Given the description of an element on the screen output the (x, y) to click on. 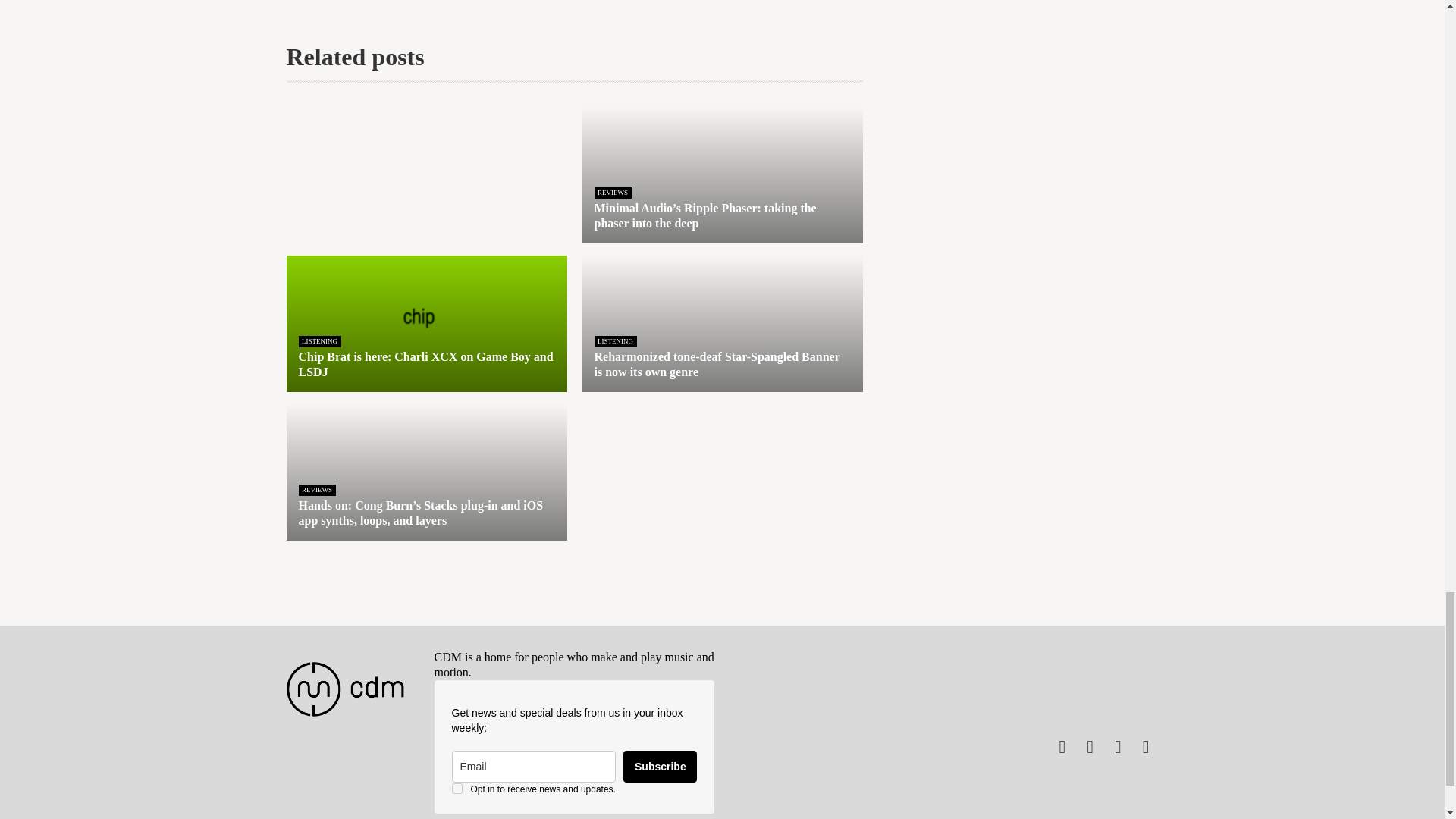
on (457, 787)
